Given the description of an element on the screen output the (x, y) to click on. 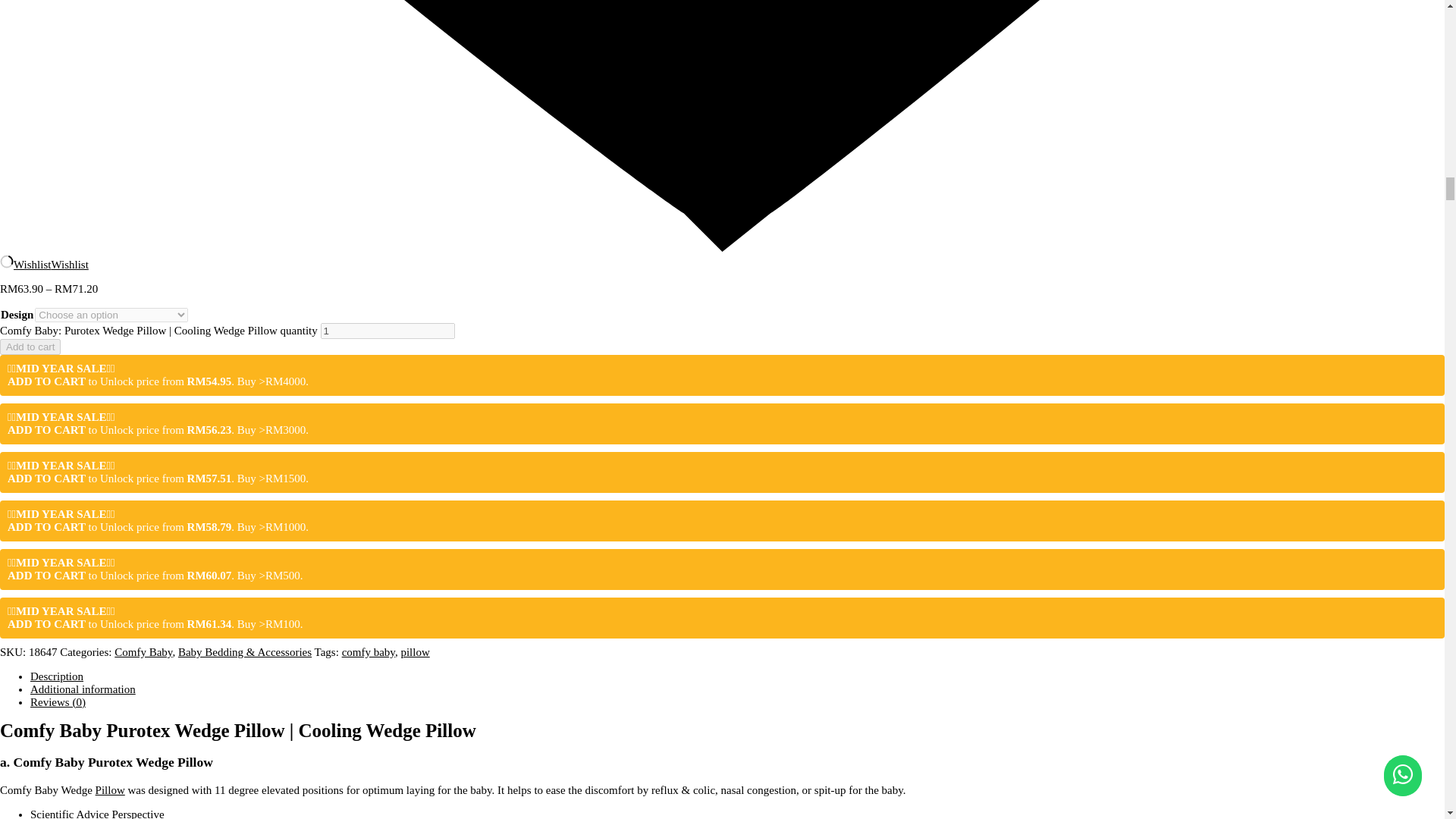
1 (387, 330)
